Given the description of an element on the screen output the (x, y) to click on. 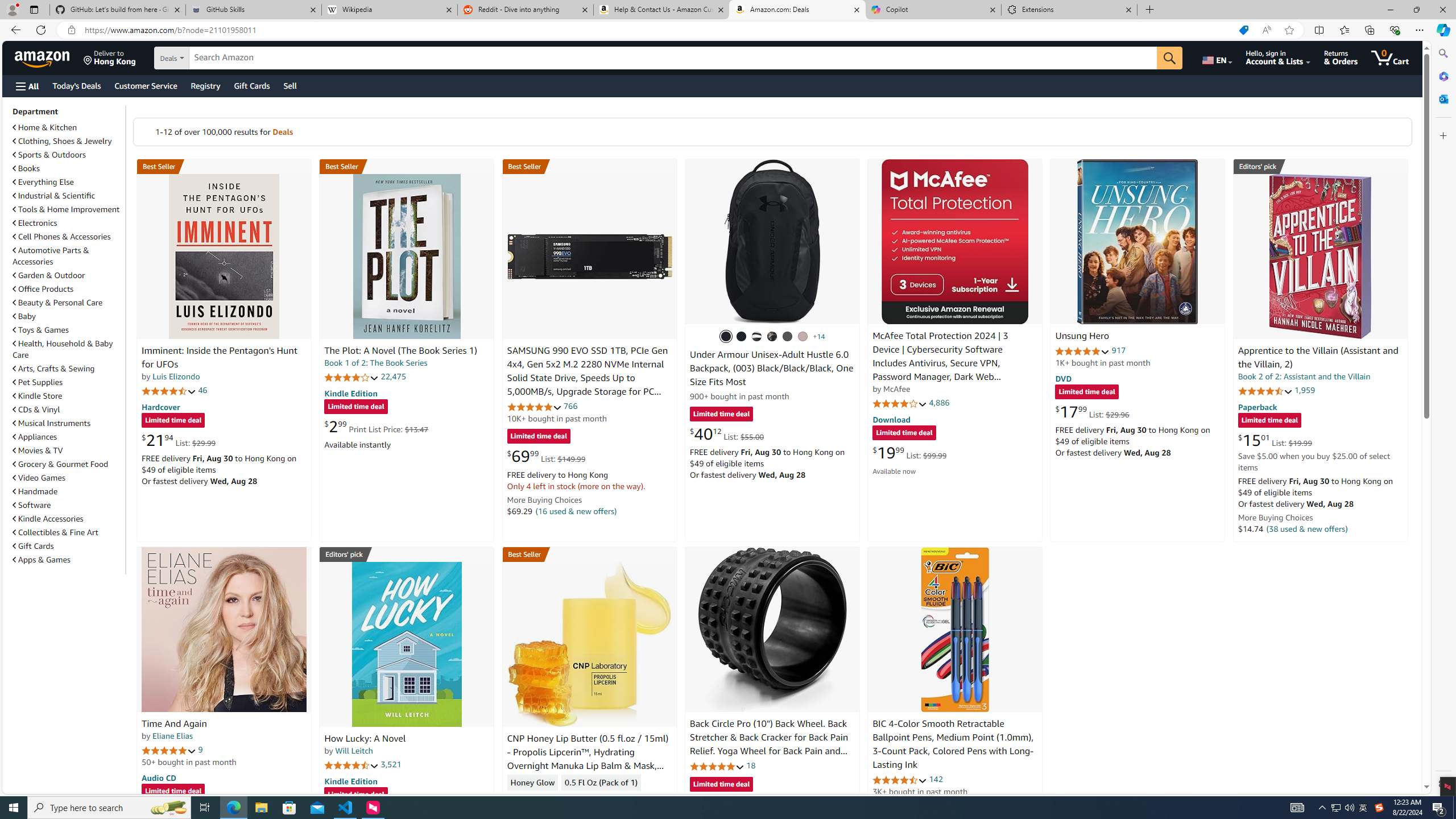
Download (891, 419)
Collectibles & Fine Art (67, 532)
Automotive Parts & Accessories (67, 255)
Industrial & Scientific (54, 195)
Luis Elizondo (175, 376)
142 (935, 778)
Tools & Home Improvement (66, 208)
Musical Instruments (67, 423)
Best Seller in Heist Thrillers (406, 165)
Software (31, 504)
Customer Service (145, 85)
Home & Kitchen (45, 127)
